Given the description of an element on the screen output the (x, y) to click on. 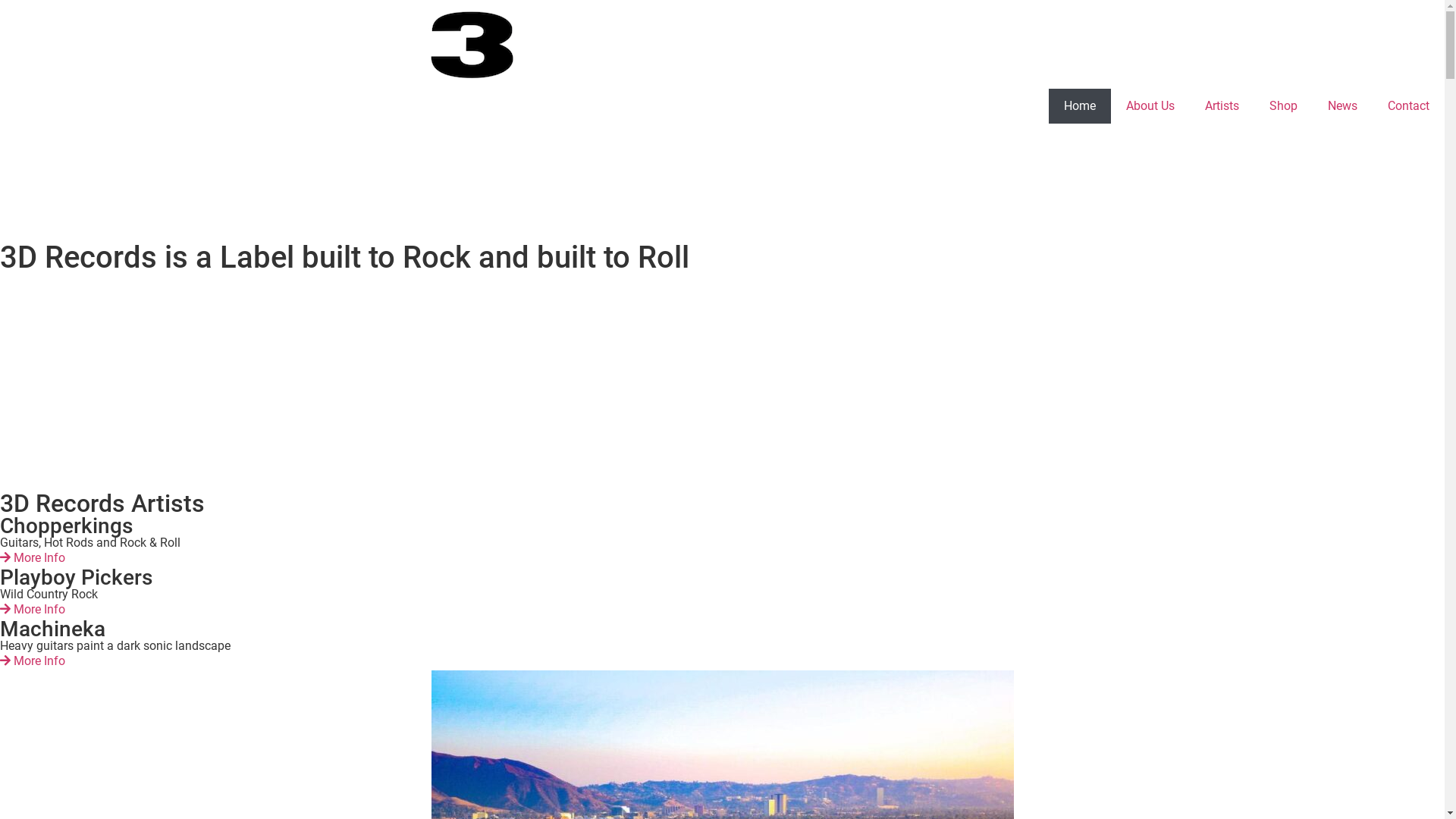
Home Element type: text (1079, 105)
More Info Element type: text (32, 609)
Shop Element type: text (1283, 105)
Artists Element type: text (1221, 105)
About Us Element type: text (1149, 105)
More Info Element type: text (32, 557)
More Info Element type: text (32, 660)
News Element type: text (1342, 105)
Contact Element type: text (1408, 105)
